Given the description of an element on the screen output the (x, y) to click on. 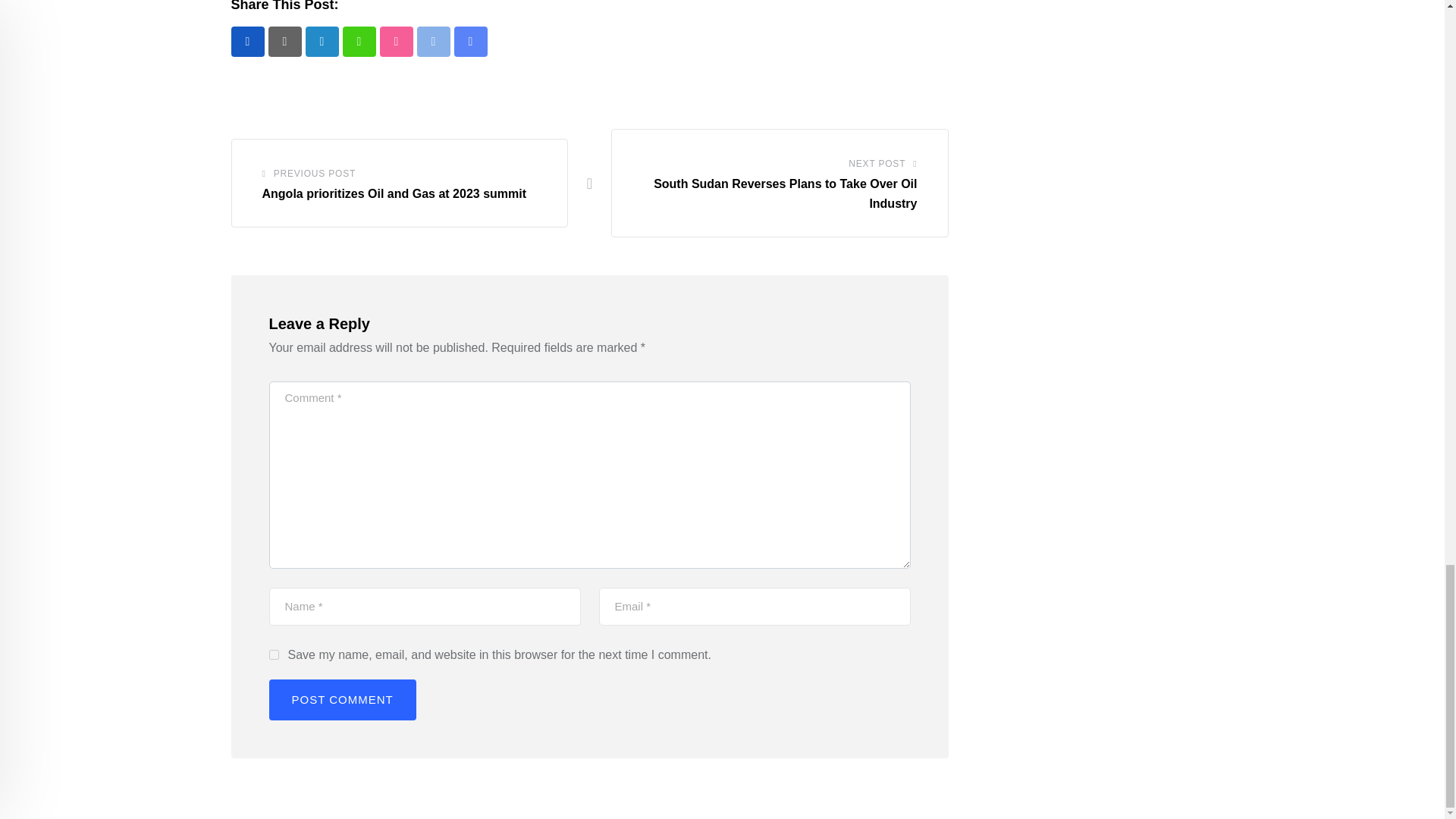
Post Comment (340, 699)
yes (272, 655)
